Given the description of an element on the screen output the (x, y) to click on. 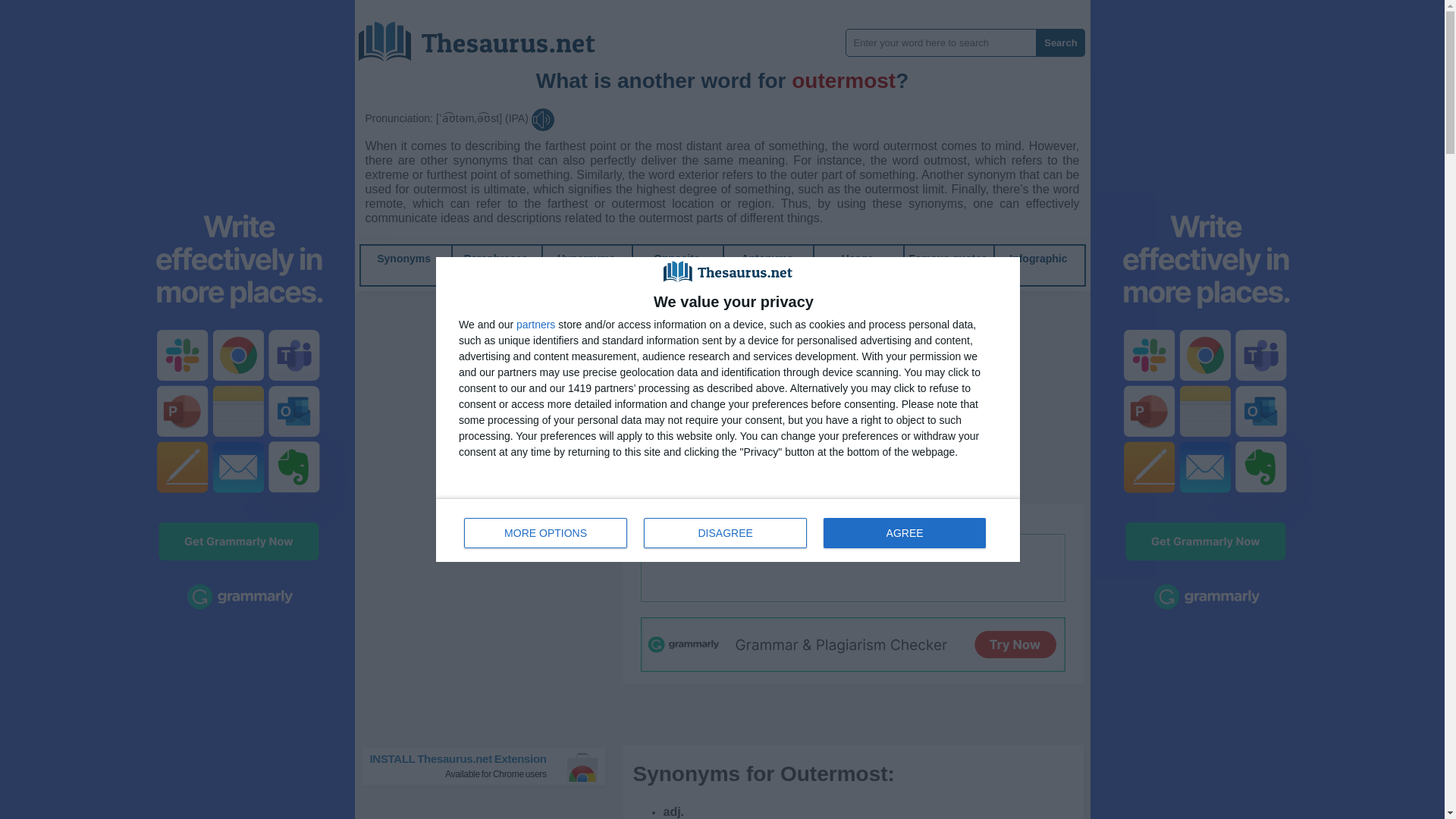
Hypernyms (585, 258)
AGREE (904, 532)
DISAGREE (724, 532)
Thesaurus.net (487, 35)
Antonyms (766, 258)
Paraphrases (495, 258)
Synonyms (403, 258)
Hypernyms (585, 258)
Famous quotes (947, 258)
Synonyms (403, 258)
Famous quotes (947, 258)
Opposite words (676, 265)
Antonyms (766, 258)
Opposite words (676, 265)
Usage examples (857, 265)
